Given the description of an element on the screen output the (x, y) to click on. 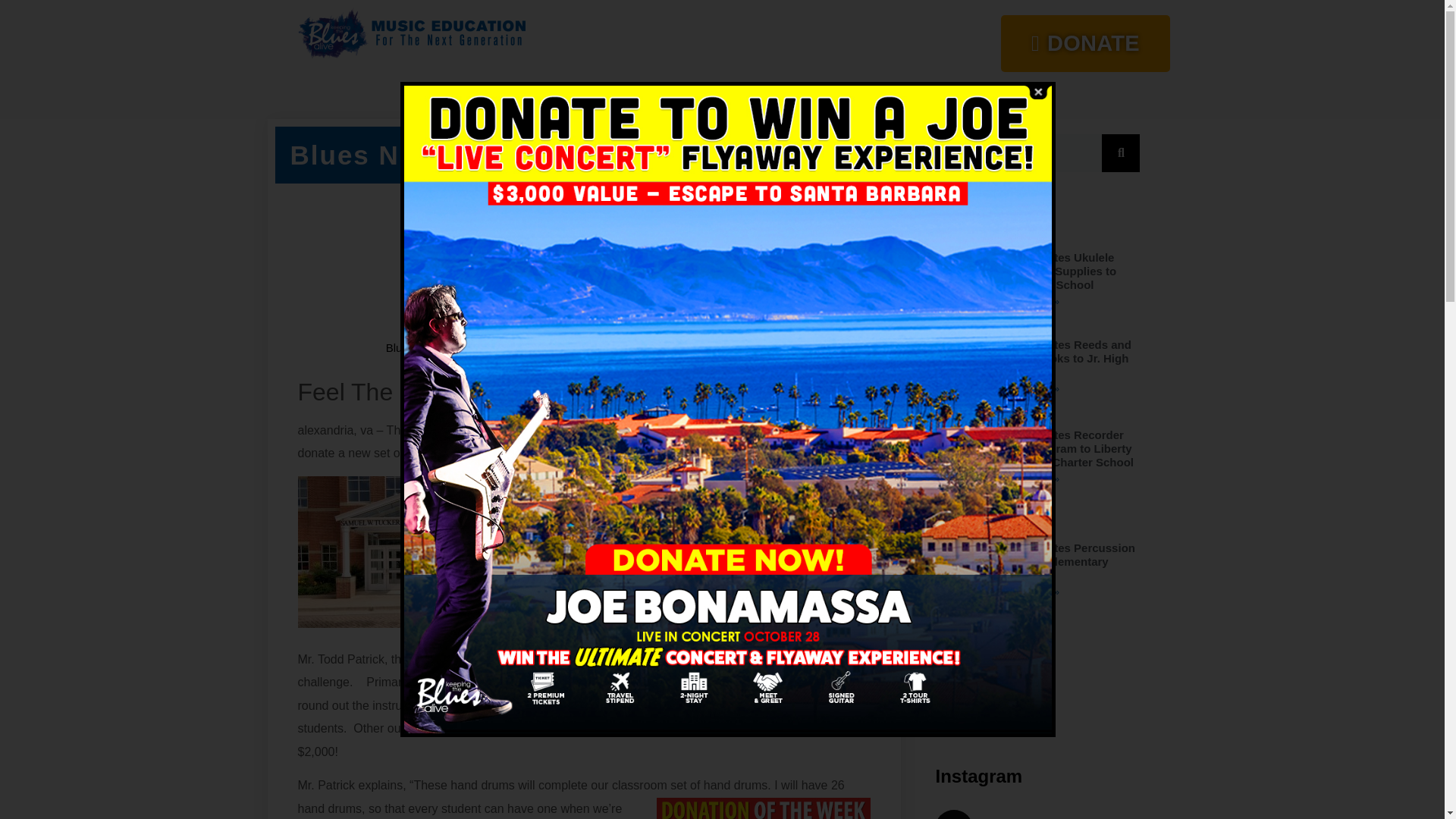
About (622, 95)
KTBA Weekly Donation (510, 347)
Blues News (415, 347)
Home (566, 95)
DONATE (1076, 45)
Events (757, 95)
Shop (815, 95)
Programs (688, 95)
Contact (874, 95)
